Given the description of an element on the screen output the (x, y) to click on. 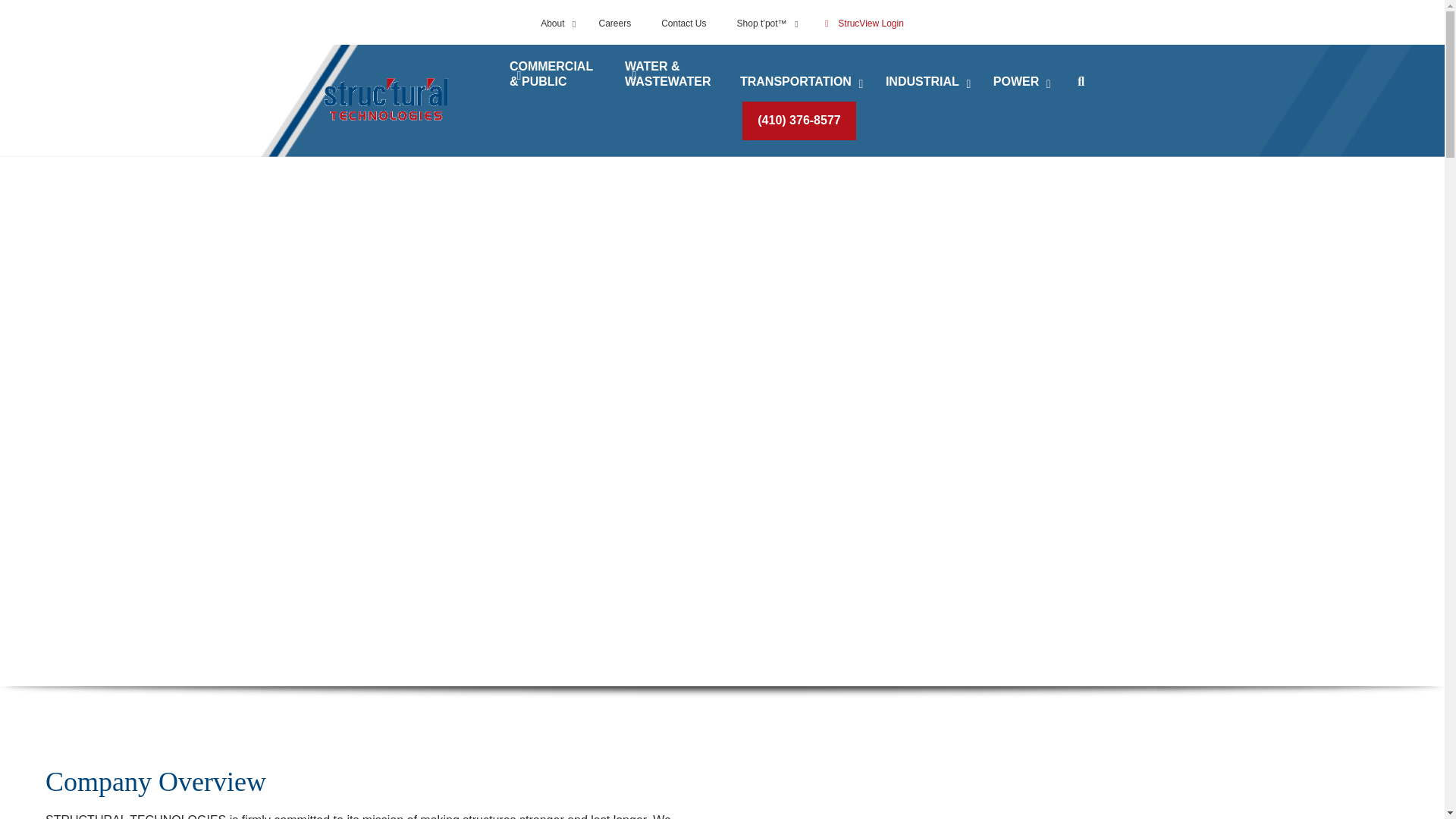
Contact Us (683, 23)
About (554, 23)
Careers (614, 23)
StrucView Login (862, 23)
